Given the description of an element on the screen output the (x, y) to click on. 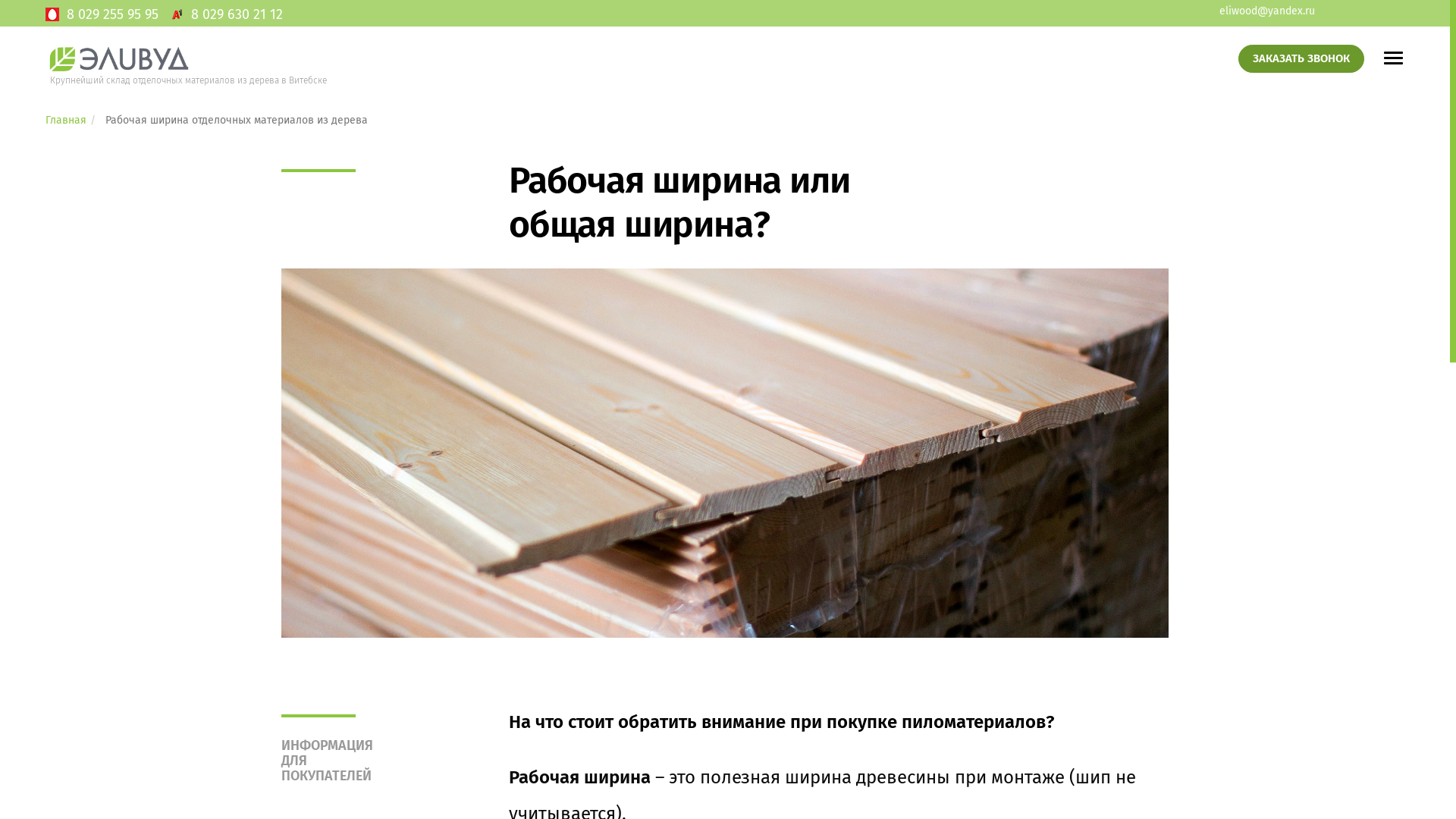
8 029 630 21 12 Element type: text (236, 14)
8 029 255 95 95 Element type: text (112, 14)
eliwood@yandex.ru Element type: text (1266, 10)
